Given the description of an element on the screen output the (x, y) to click on. 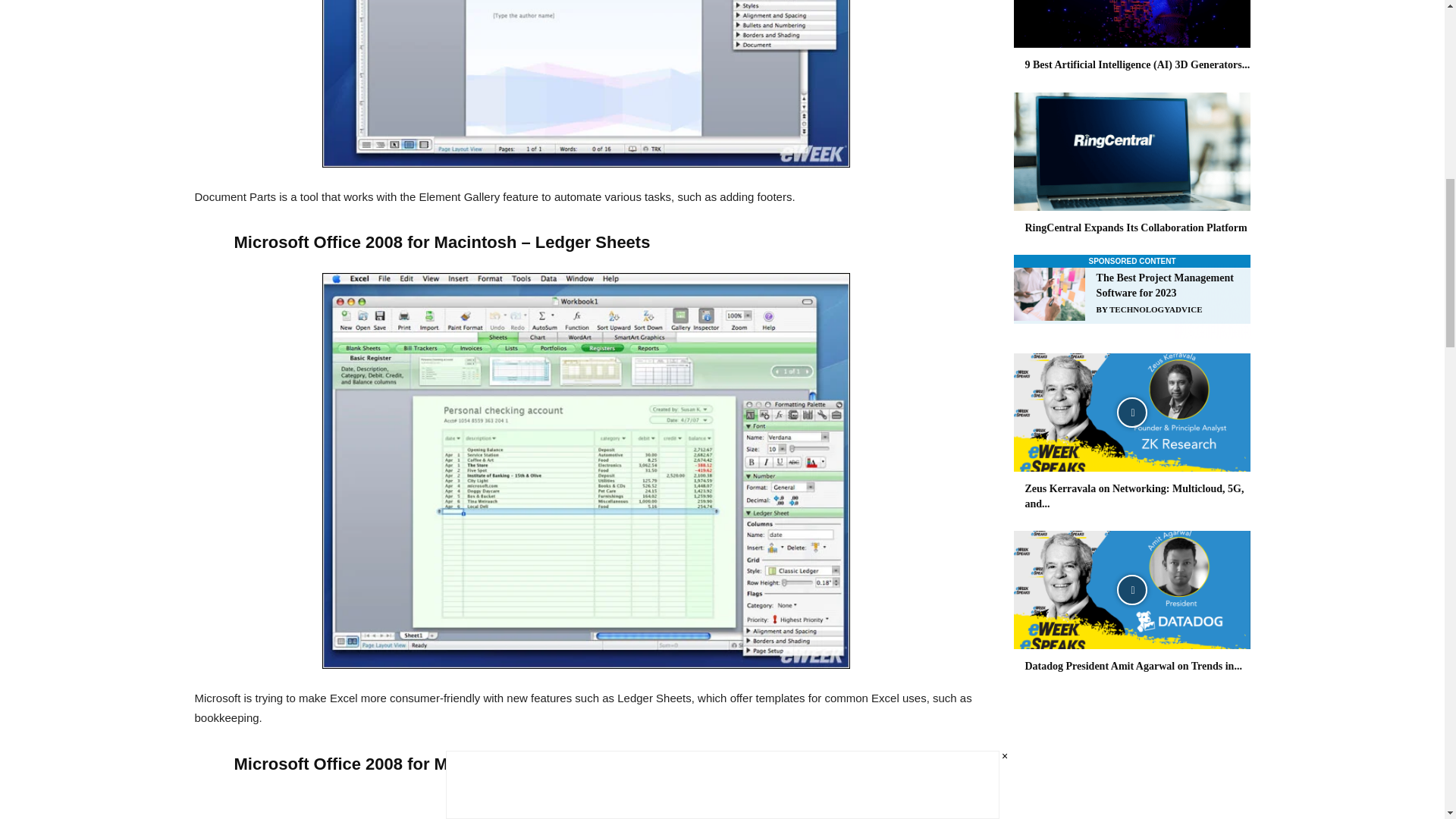
RingCentral Expands Its Collaboration Platform (1131, 151)
3rd party ad content (1131, 296)
RingCentral Expands Its Collaboration Platform (1136, 227)
